Given the description of an element on the screen output the (x, y) to click on. 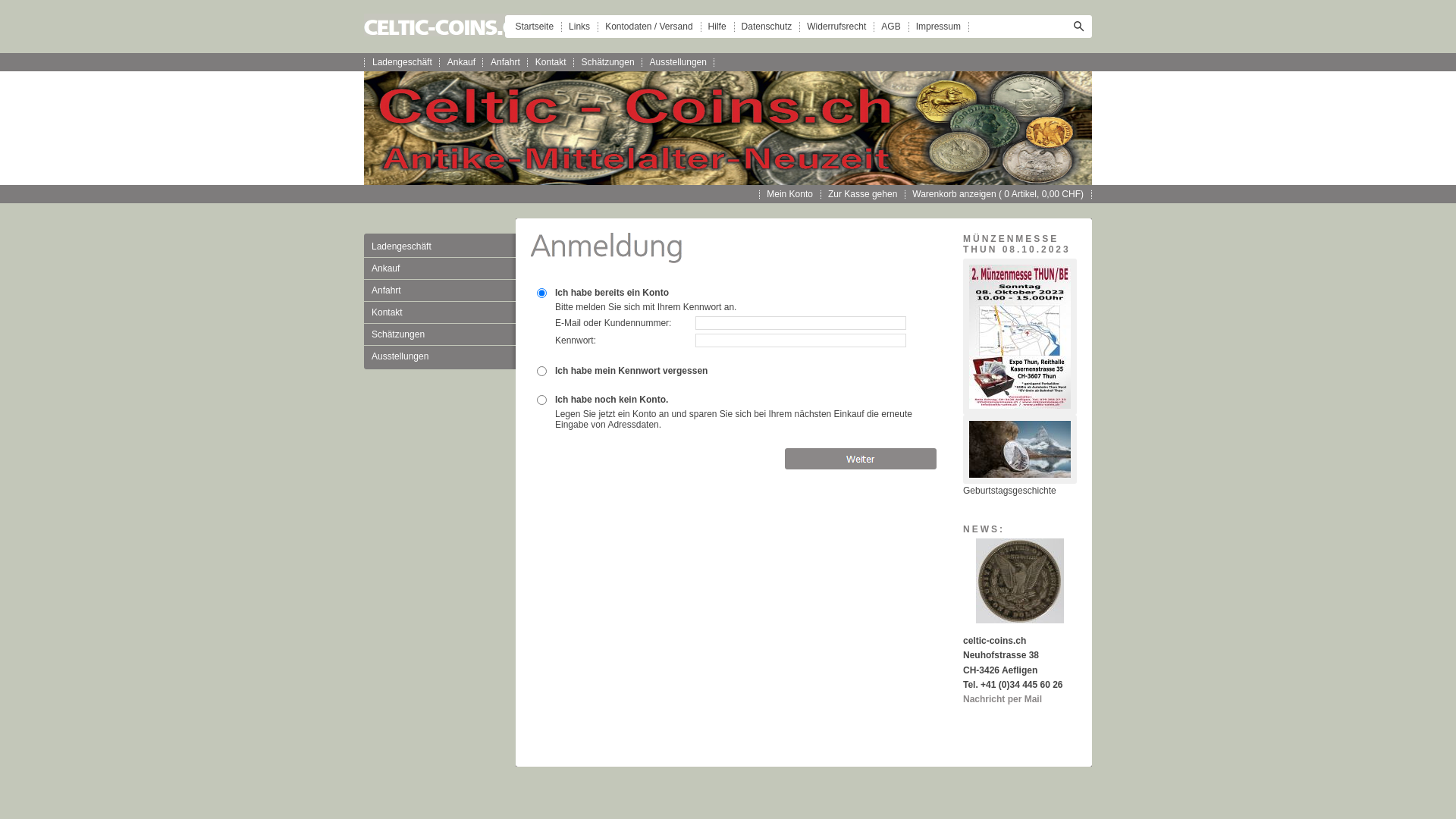
Zur Kasse gehen Element type: text (862, 194)
new Element type: text (541, 399)
Kontodaten / Versand Element type: text (648, 26)
login Element type: text (541, 293)
Nachricht per Mail Element type: text (1002, 698)
Kontakt Element type: text (439, 312)
Hilfe Element type: text (717, 26)
Kontakt Element type: text (550, 62)
Impressum Element type: text (938, 26)
Links Element type: text (579, 26)
Ankauf Element type: text (461, 62)
Ankauf Element type: text (439, 268)
Ausstellungen Element type: text (439, 356)
Ausstellungen Element type: text (678, 62)
password Element type: text (541, 370)
Mein Konto Element type: text (789, 194)
Anfahrt Element type: text (439, 290)
Anfahrt Element type: text (505, 62)
Datenschutz Element type: text (767, 26)
Widerrufsrecht Element type: text (836, 26)
Warenkorb anzeigen ( 0 Artikel, 0,00 CHF) Element type: text (997, 194)
AGB Element type: text (890, 26)
Startseite Element type: text (534, 26)
